Given the description of an element on the screen output the (x, y) to click on. 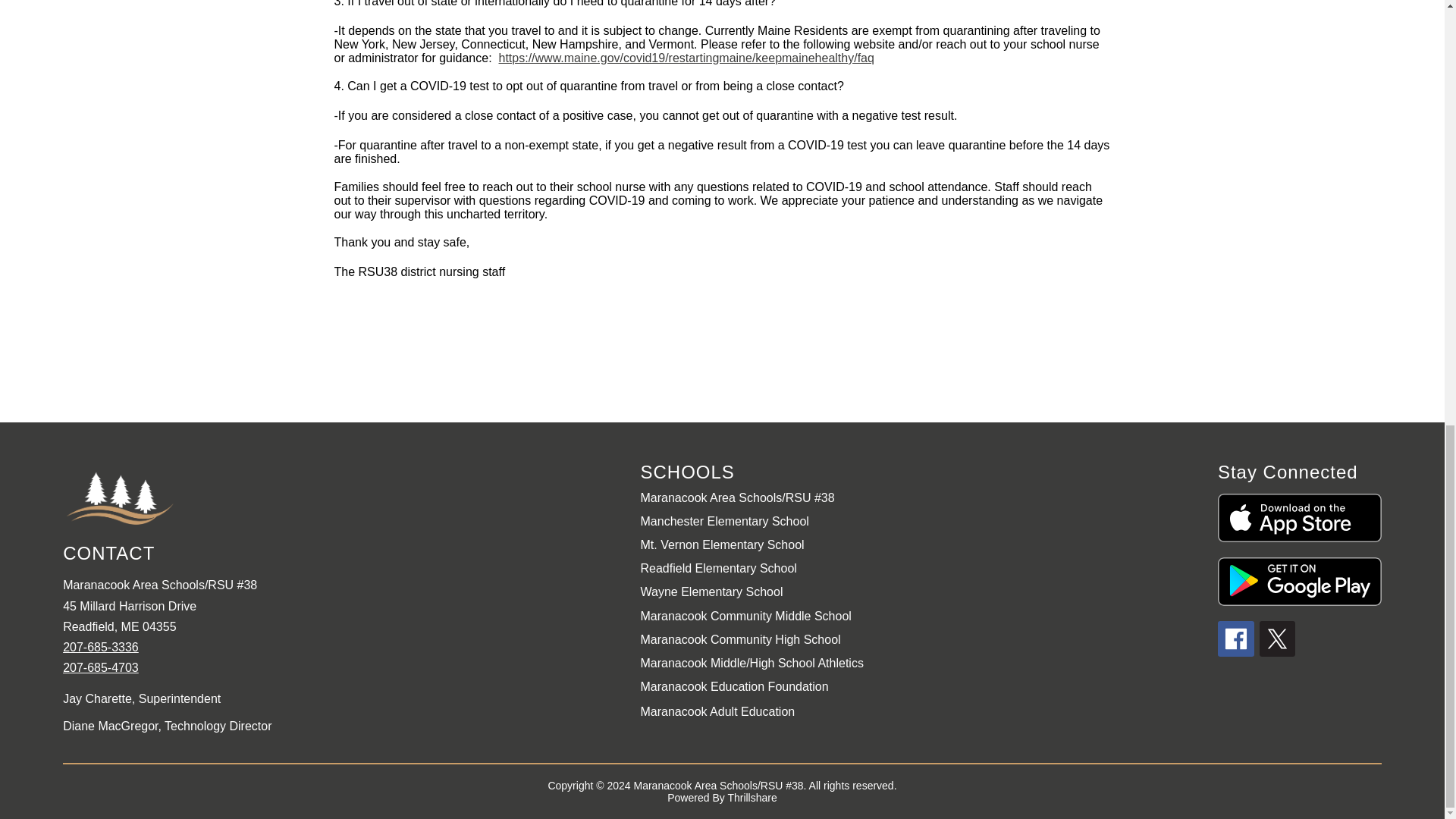
Readfield Elementary School (718, 568)
207-685-3336 (100, 646)
207-685-4703 (100, 667)
Thrillshare (751, 797)
Maranacook Community Middle School (745, 615)
Jay Charette, Superintendent (343, 698)
Diane MacGregor, Technology Director (343, 726)
Maranacook Adult Education (717, 711)
Maranacook Education Foundation (734, 686)
Wayne Elementary School (711, 592)
